Given the description of an element on the screen output the (x, y) to click on. 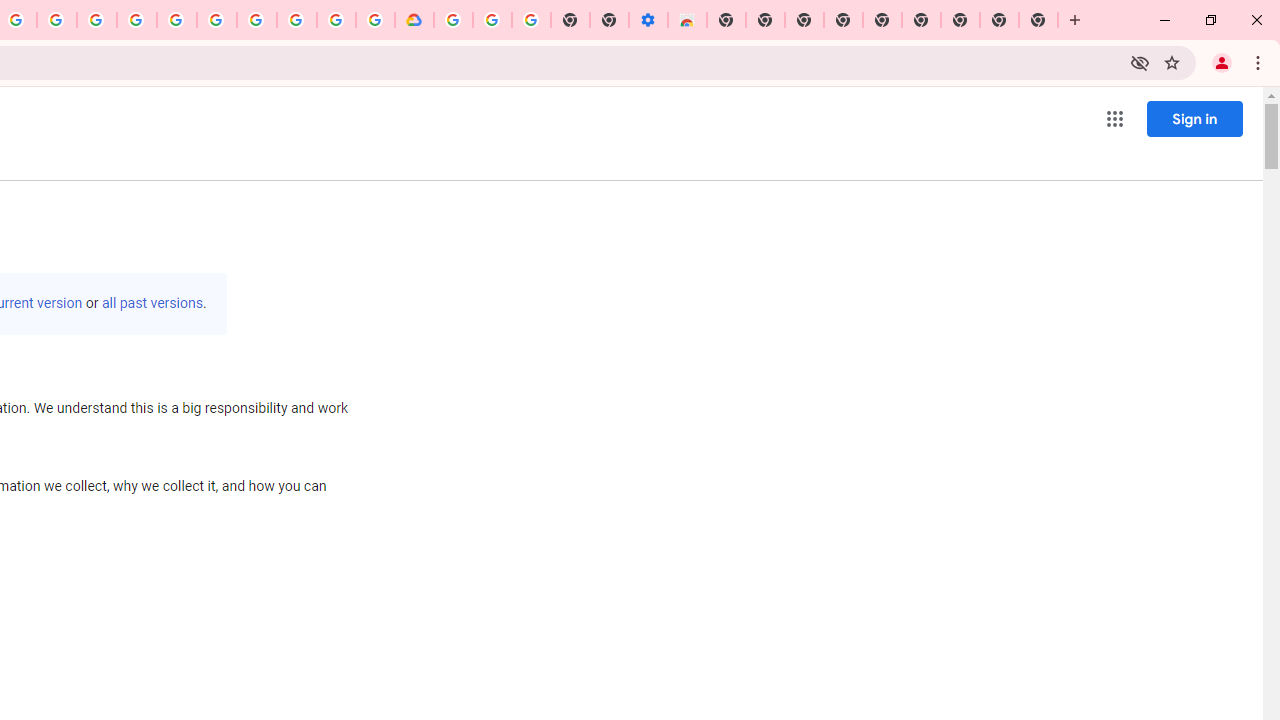
Google Account Help (256, 20)
Create your Google Account (336, 20)
New Tab (1038, 20)
Sign in - Google Accounts (453, 20)
Browse the Google Chrome Community - Google Chrome Community (375, 20)
Chrome Web Store - Accessibility extensions (687, 20)
